Given the description of an element on the screen output the (x, y) to click on. 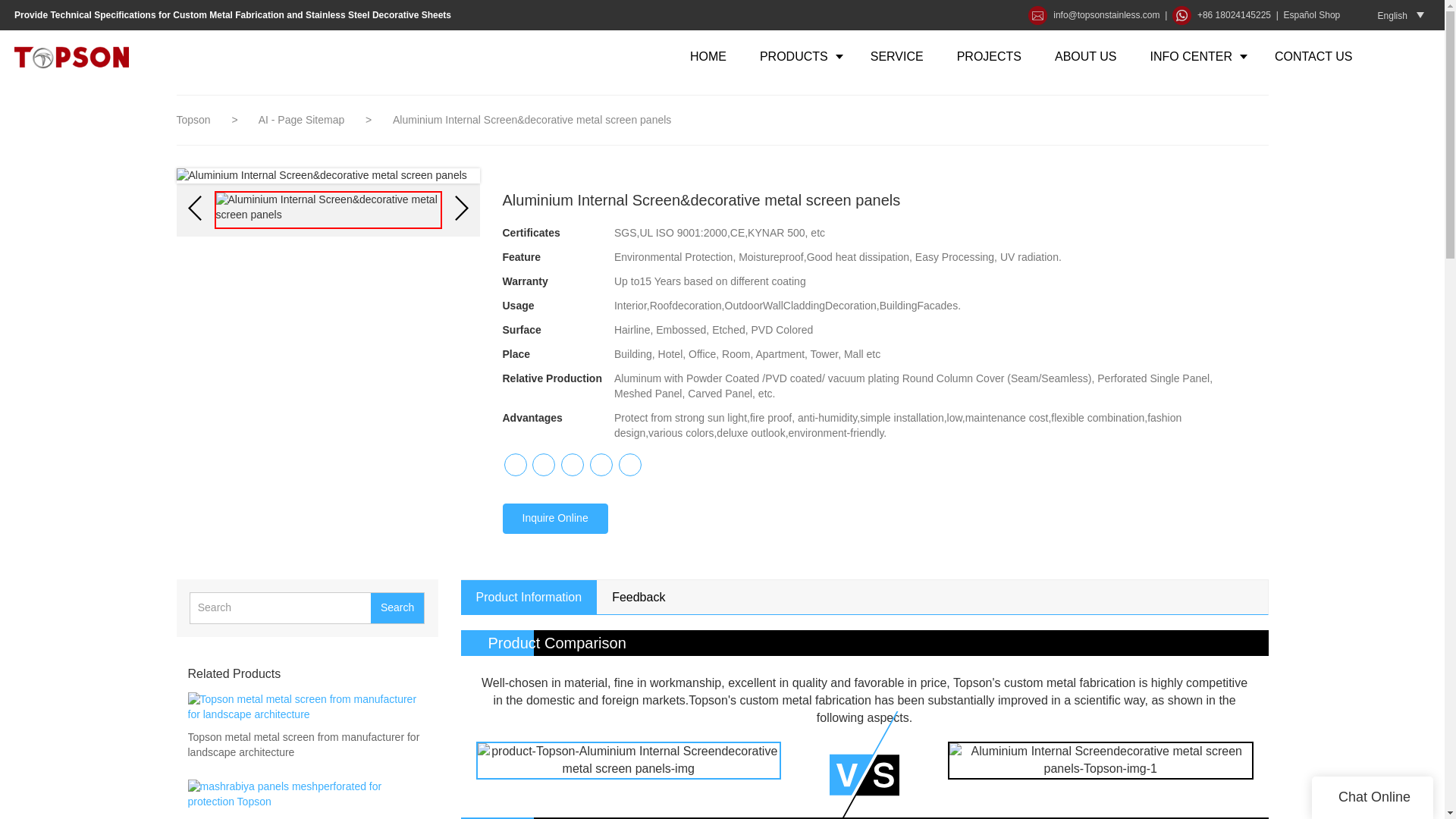
SERVICE (896, 56)
HOME (707, 56)
PROJECTS (989, 56)
ABOUT US (1086, 56)
AI - Page Sitemap (303, 119)
Topson (192, 119)
PRODUCTS (797, 56)
CONTACT US (1313, 56)
INFO CENTER (1195, 56)
